Given the description of an element on the screen output the (x, y) to click on. 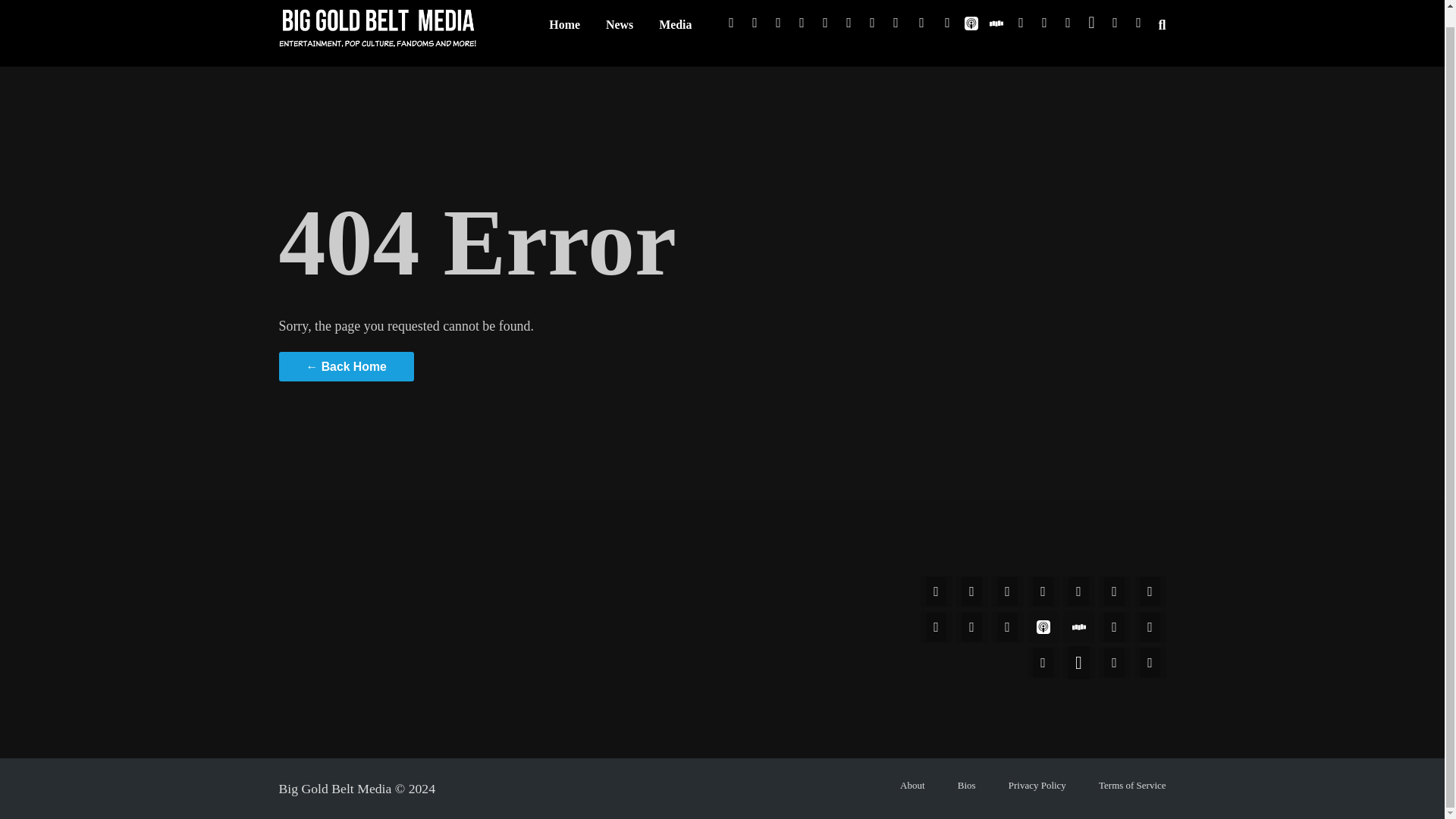
Home (564, 31)
News (619, 31)
Home Page (564, 31)
Media (675, 31)
Media (675, 31)
News (619, 31)
